Given the description of an element on the screen output the (x, y) to click on. 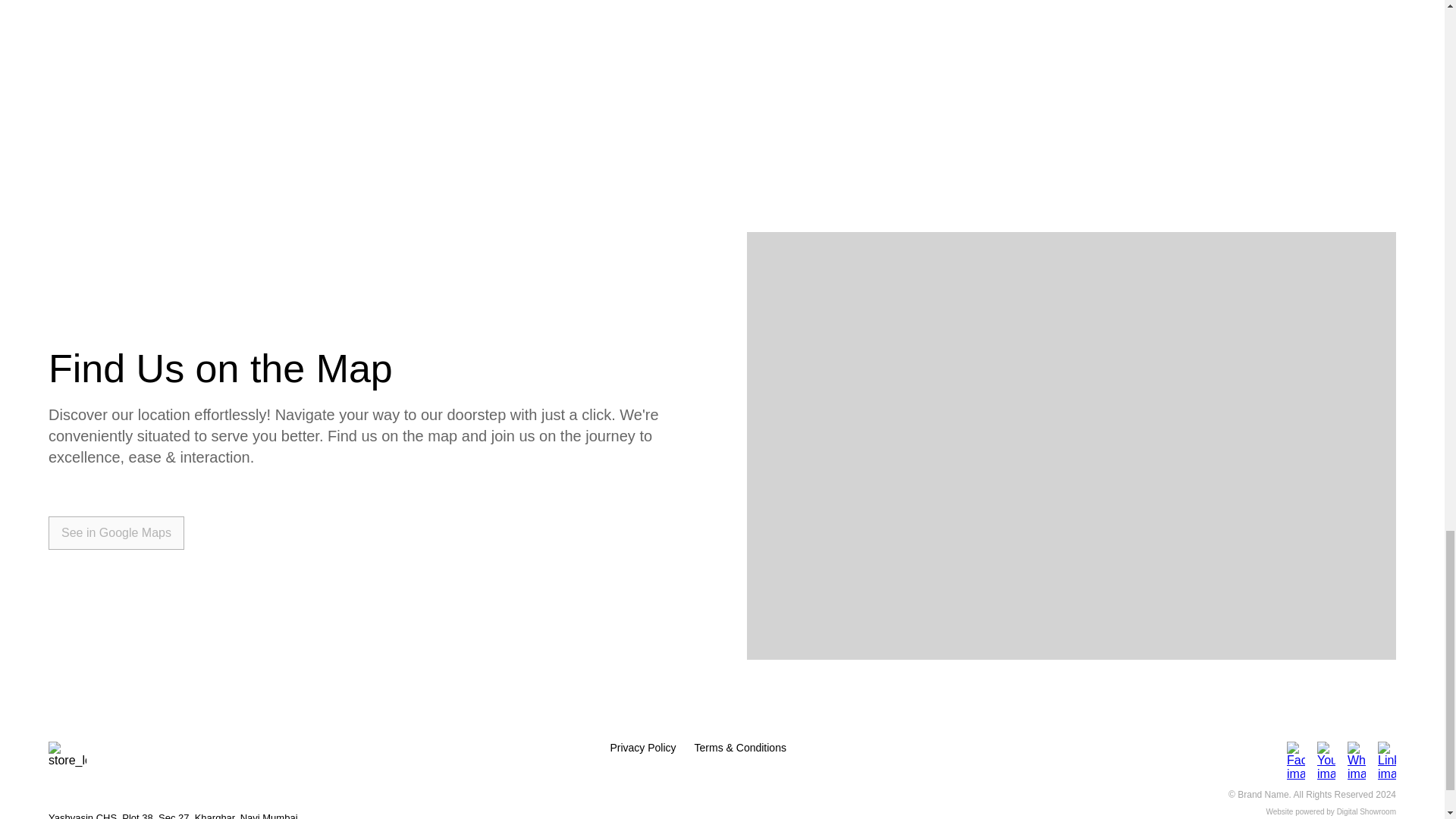
See in Google Maps (116, 532)
